Given the description of an element on the screen output the (x, y) to click on. 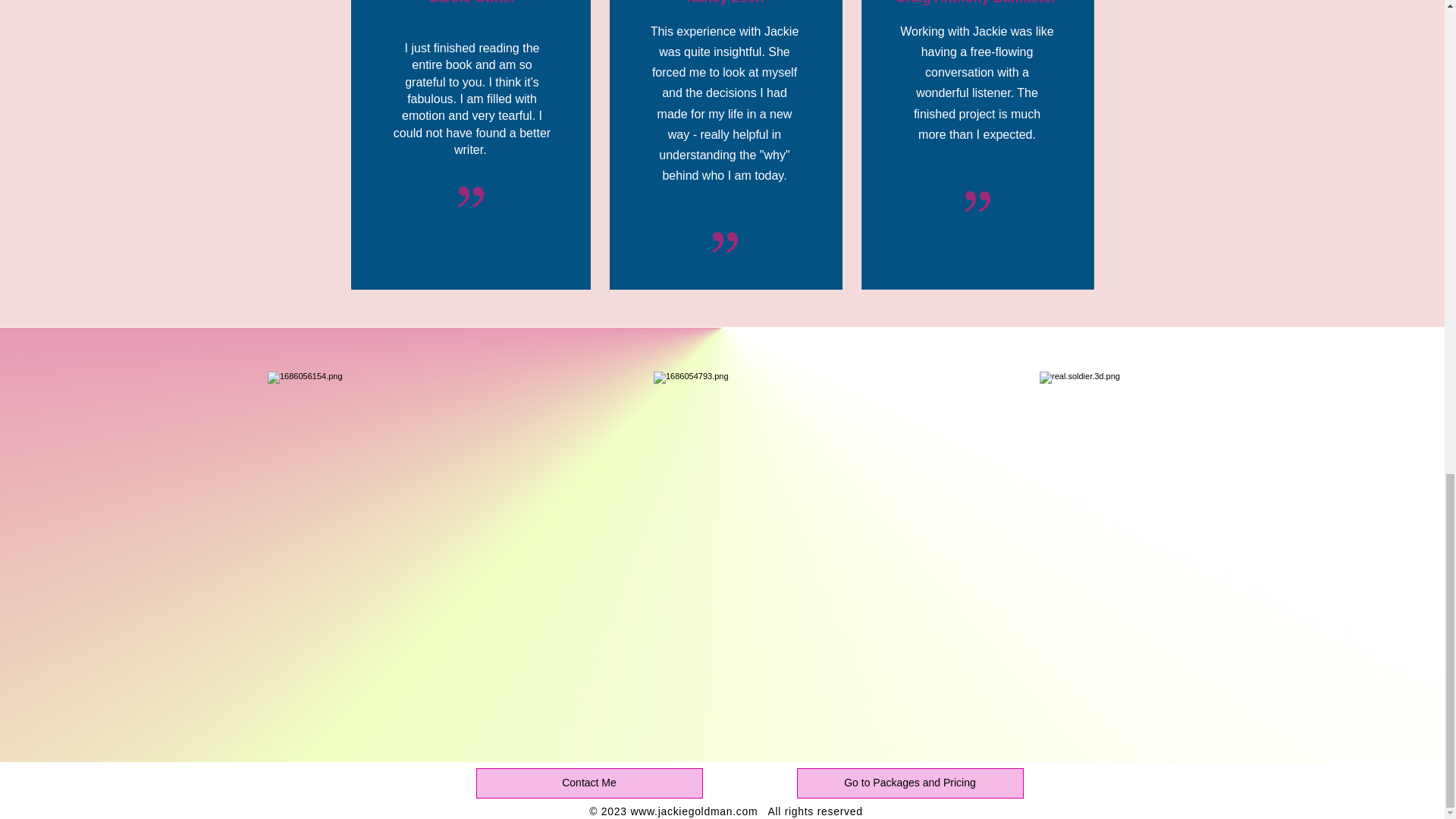
www.jackiegoldman.com (693, 811)
Go to Packages and Pricing (909, 783)
Contact Me (589, 783)
